Given the description of an element on the screen output the (x, y) to click on. 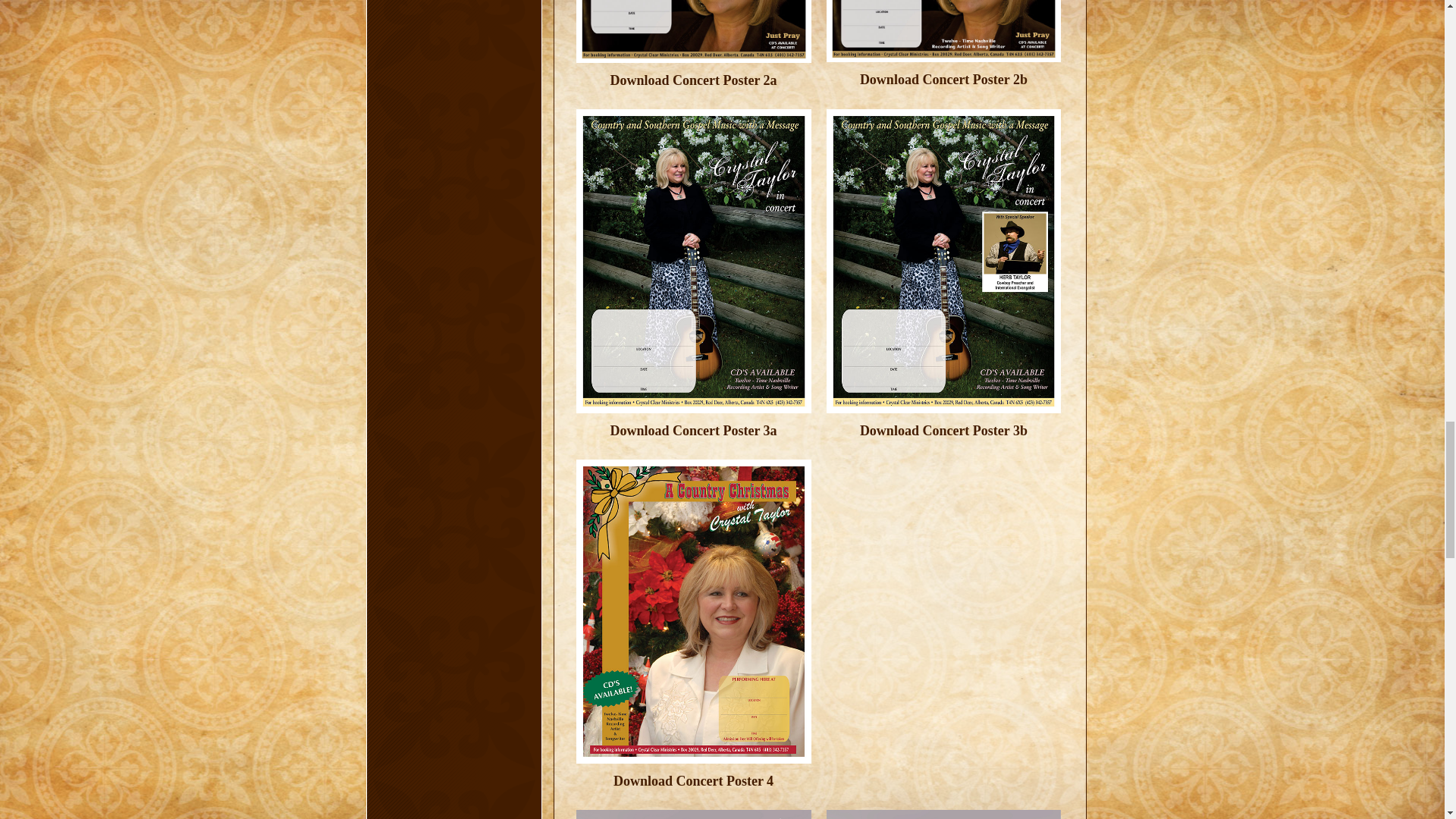
concert poster 8.5x11-JustPray.pdf (693, 79)
Crystal Clear - Christmas Poster 8.5 x 11 2019.pdf (692, 789)
concert posters 8.5x11 2012.pdf (693, 439)
concert posters 8.5x11 2012 with herb.pdf (943, 439)
concert poster 8.5x11-JustPray with herb.pdf (943, 79)
